Given the description of an element on the screen output the (x, y) to click on. 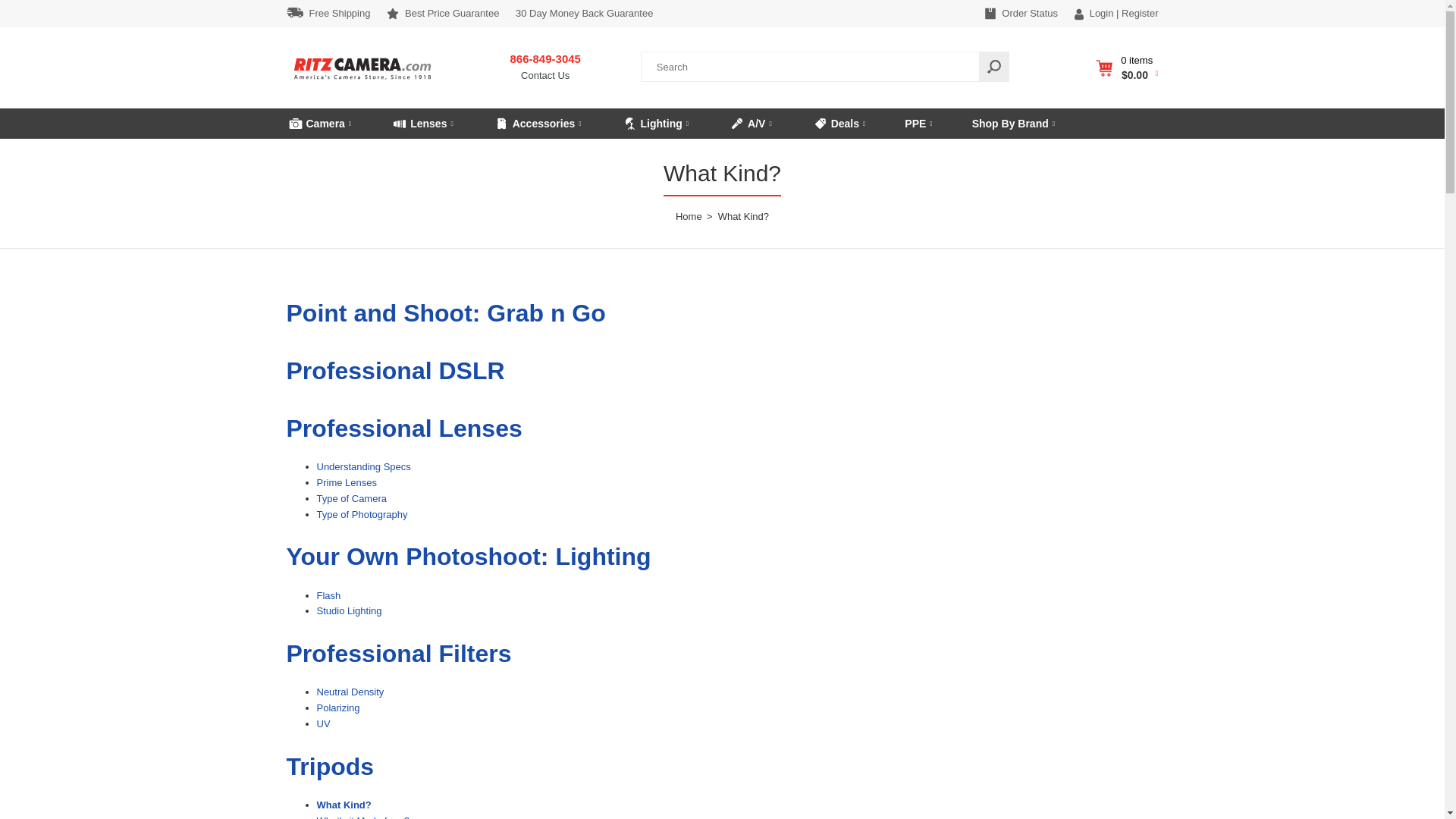
Login (1098, 13)
Lenses (421, 123)
Camera (319, 123)
Order Status (1024, 13)
Best Price Guarantee (442, 13)
Free Shipping (544, 67)
Register (331, 13)
Ritz Camera (1139, 13)
30 Day Money Back Guarantee (362, 84)
